Given the description of an element on the screen output the (x, y) to click on. 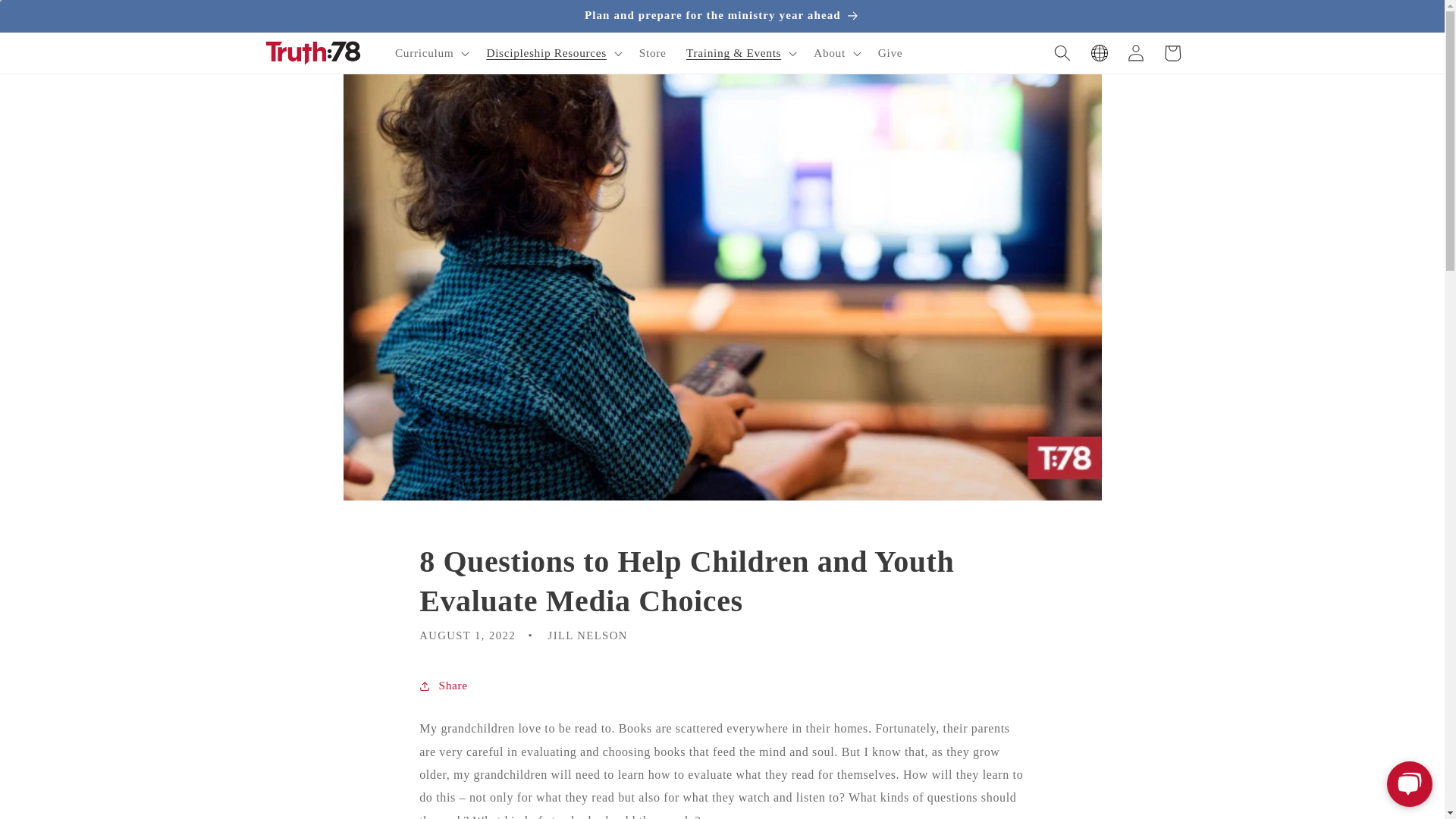
Skip to content (49, 18)
